Given the description of an element on the screen output the (x, y) to click on. 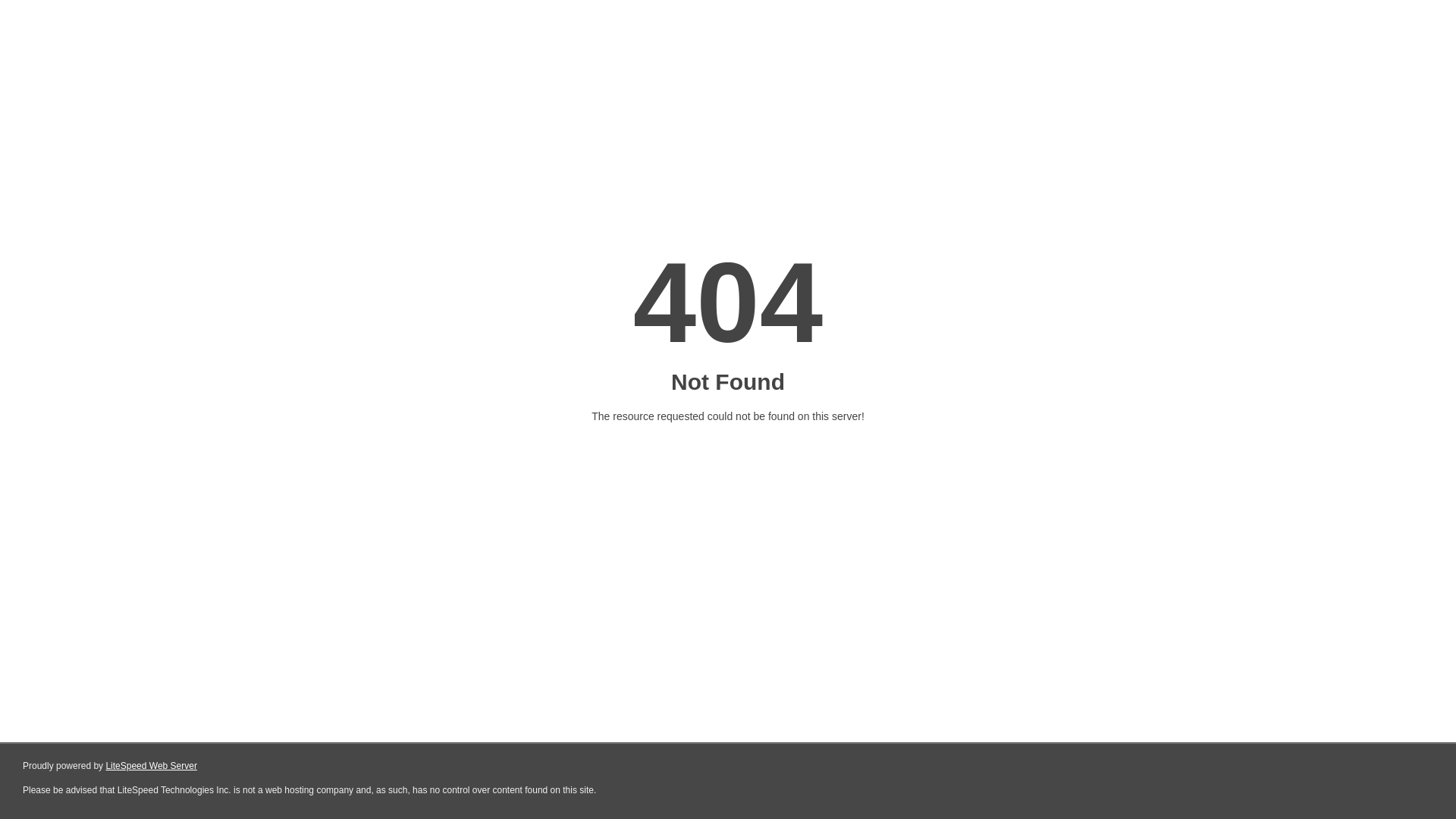
LiteSpeed Web Server Element type: text (151, 765)
